Given the description of an element on the screen output the (x, y) to click on. 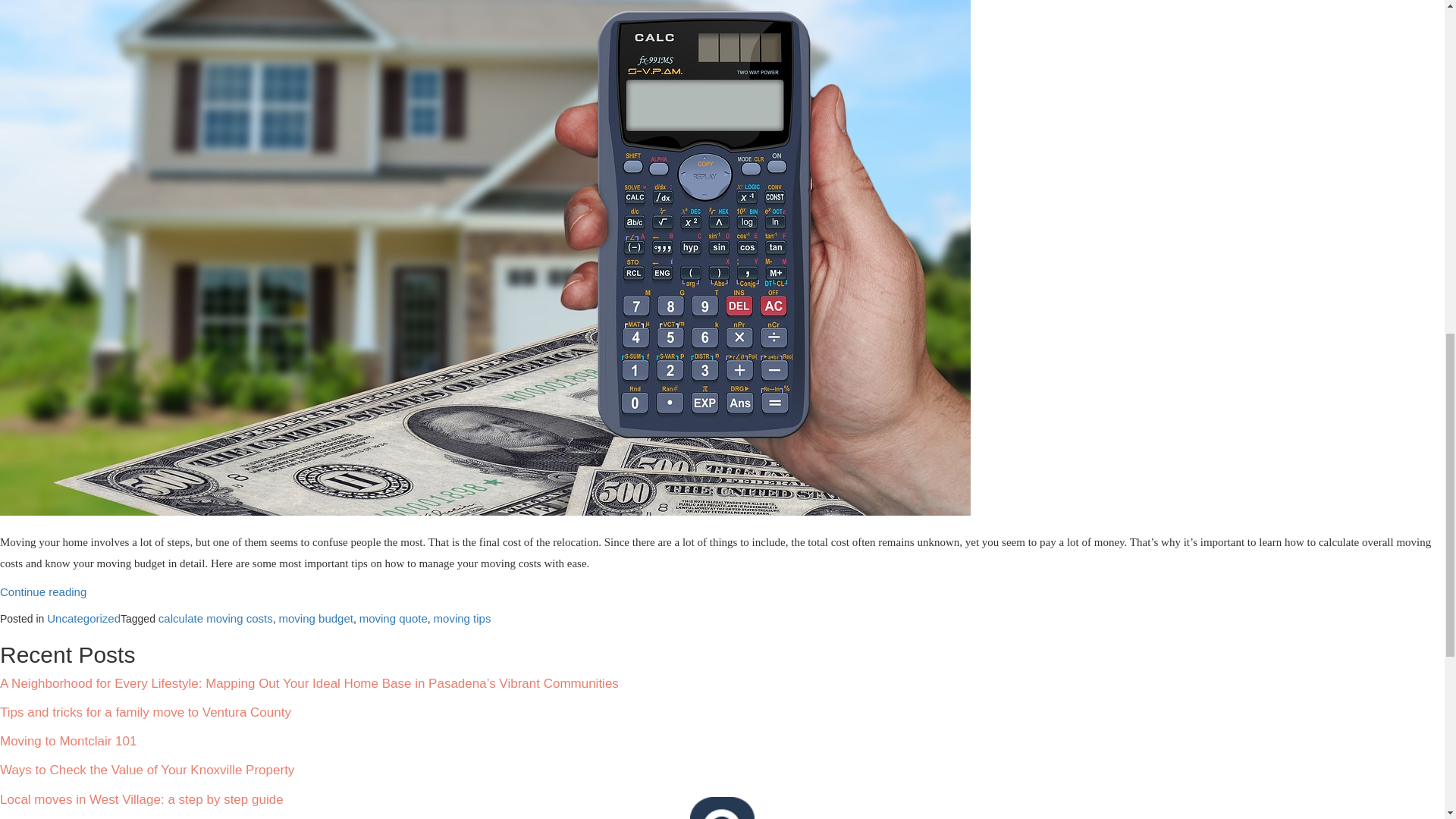
moving tips (462, 617)
Ways to Check the Value of Your Knoxville Property (147, 769)
Tips and tricks for a family move to Ventura County (145, 712)
Moving to Montclair 101 (68, 740)
moving budget (316, 617)
calculate moving costs (215, 617)
Uncategorized (83, 617)
moving quote (393, 617)
Local moves in West Village: a step by step guide (141, 799)
